Given the description of an element on the screen output the (x, y) to click on. 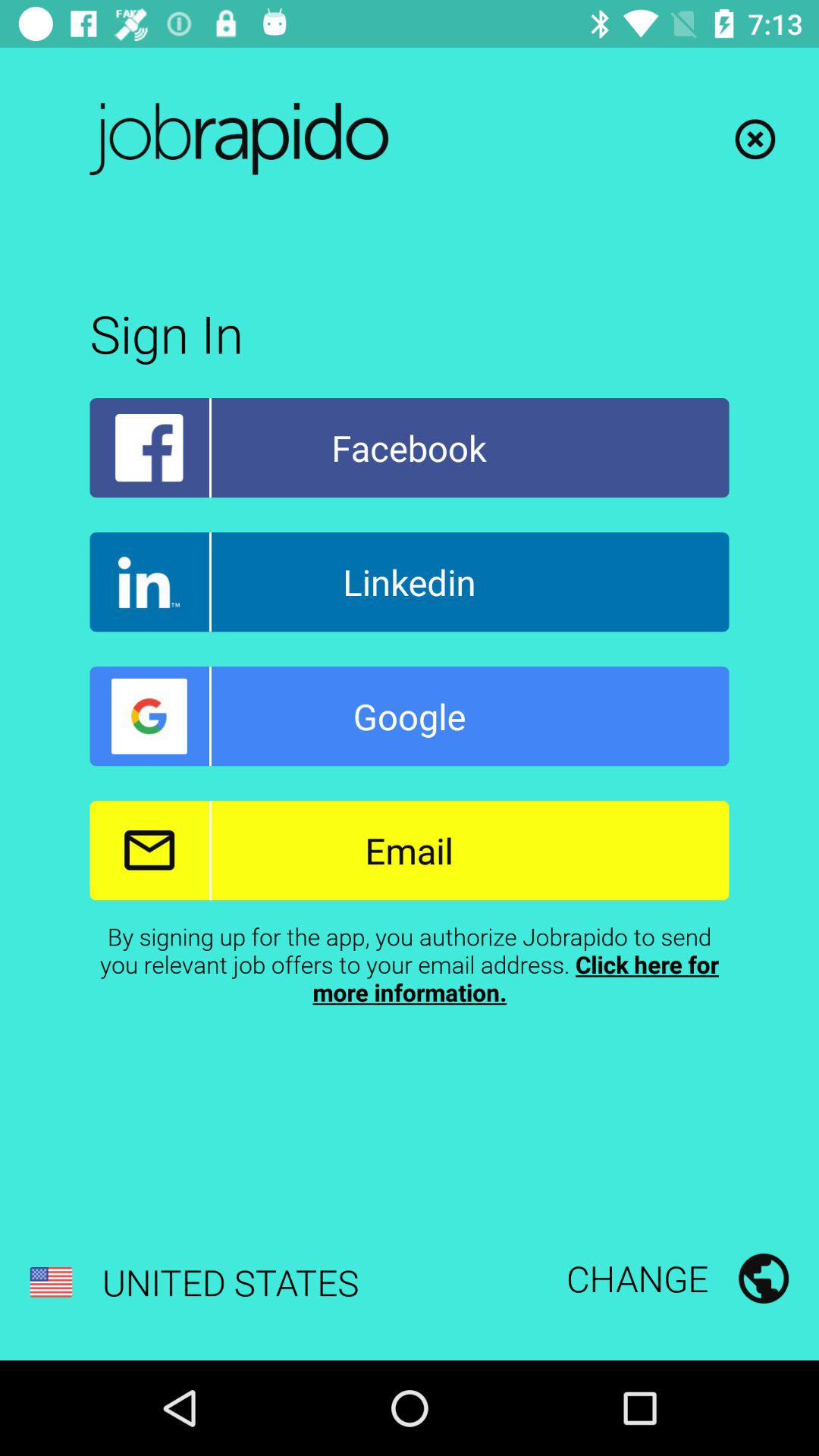
click the item above the change icon (409, 964)
